Given the description of an element on the screen output the (x, y) to click on. 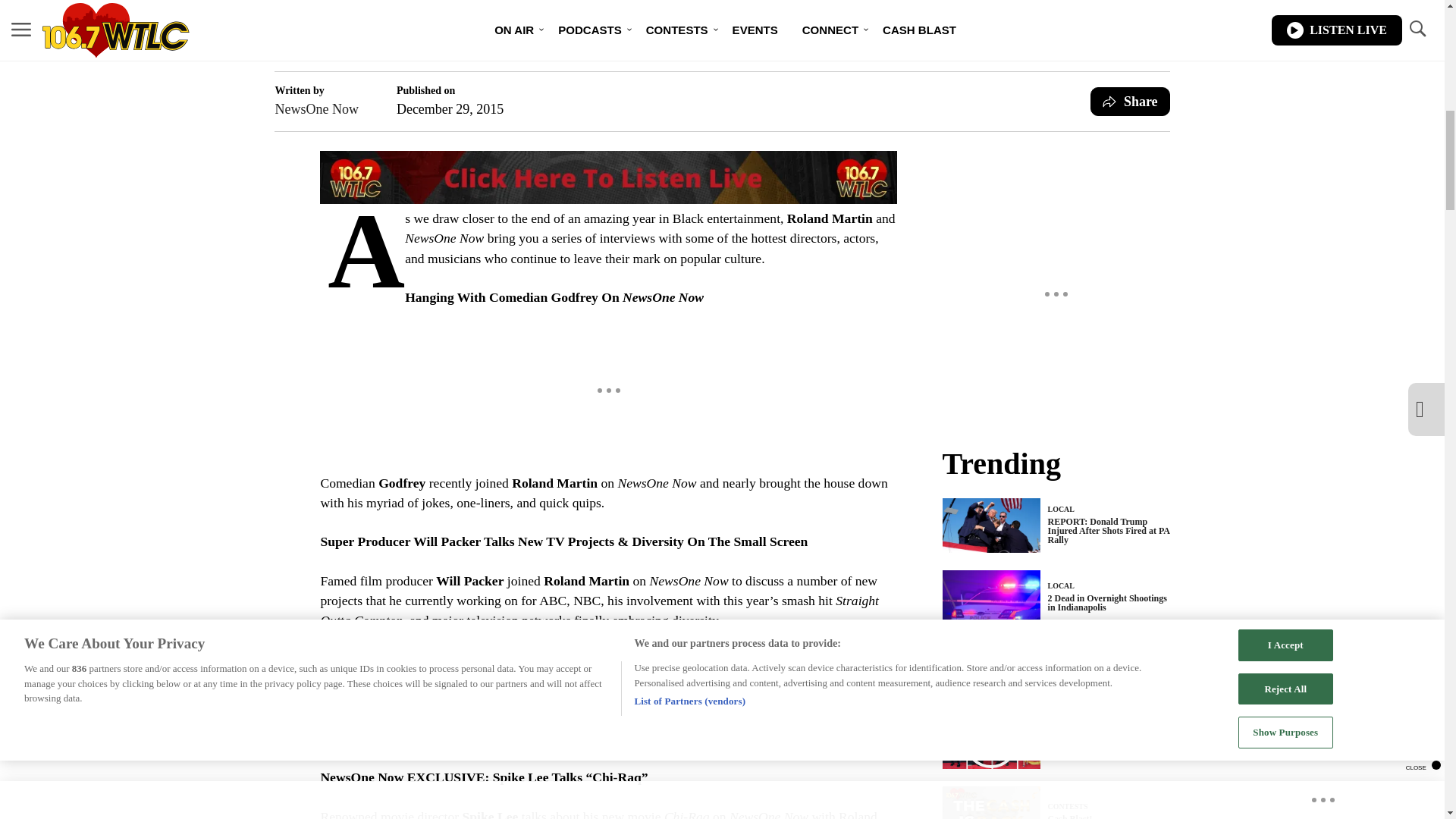
Media Playlist (990, 669)
Share (1130, 101)
Media Playlist (990, 741)
NewsOne Now (316, 108)
